Given the description of an element on the screen output the (x, y) to click on. 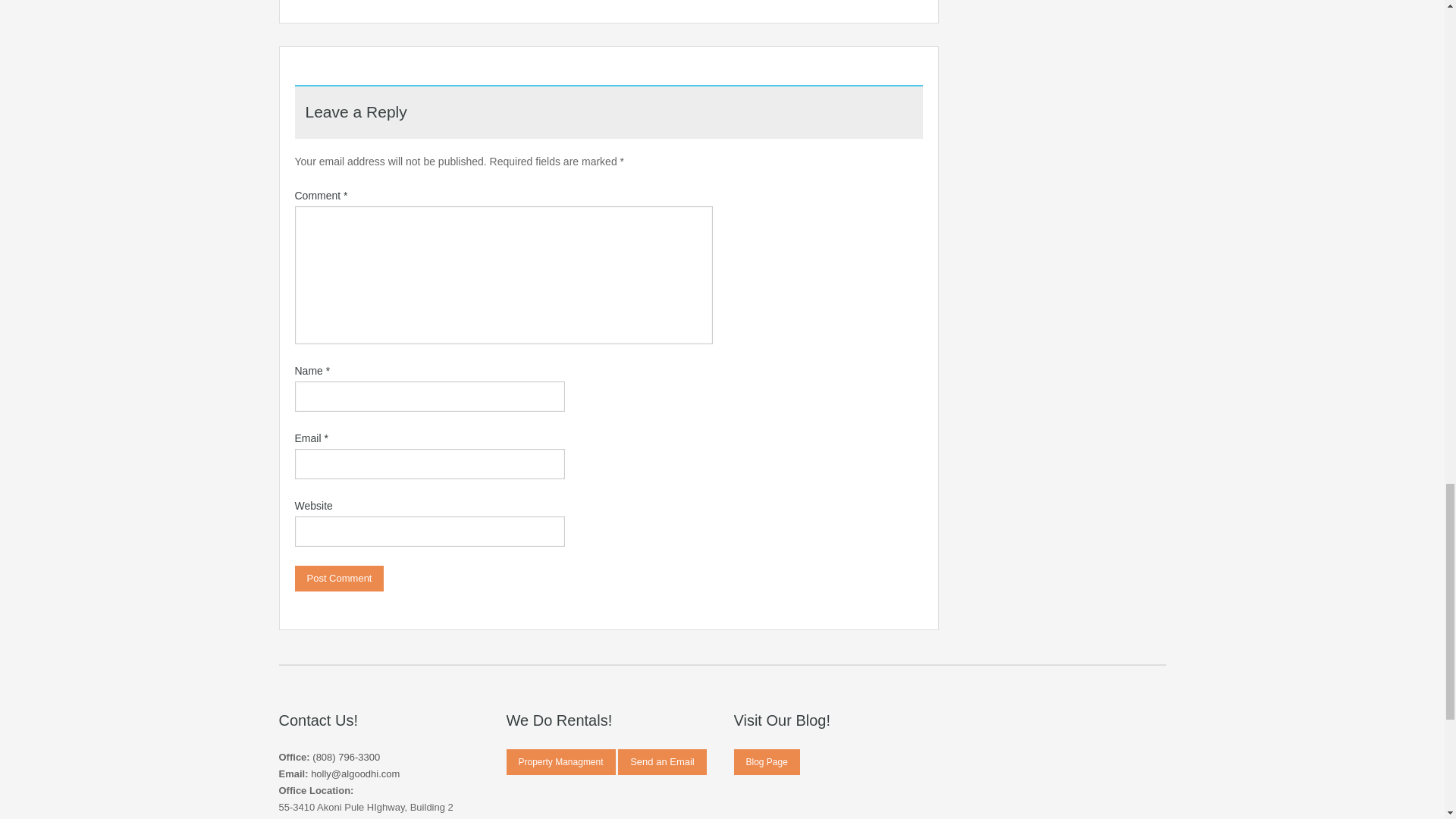
Post Comment (339, 578)
